Given the description of an element on the screen output the (x, y) to click on. 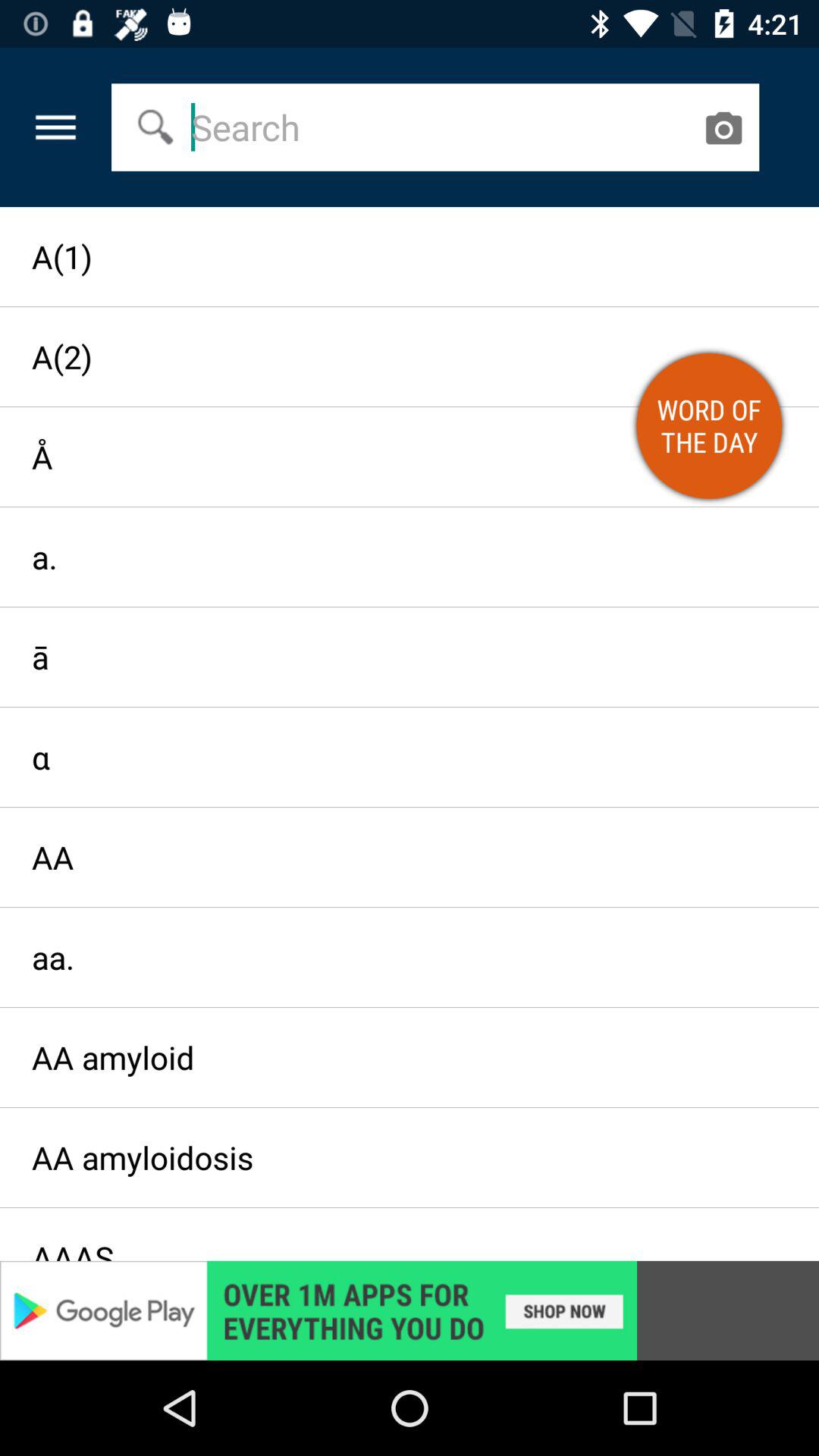
search with camera (723, 127)
